Given the description of an element on the screen output the (x, y) to click on. 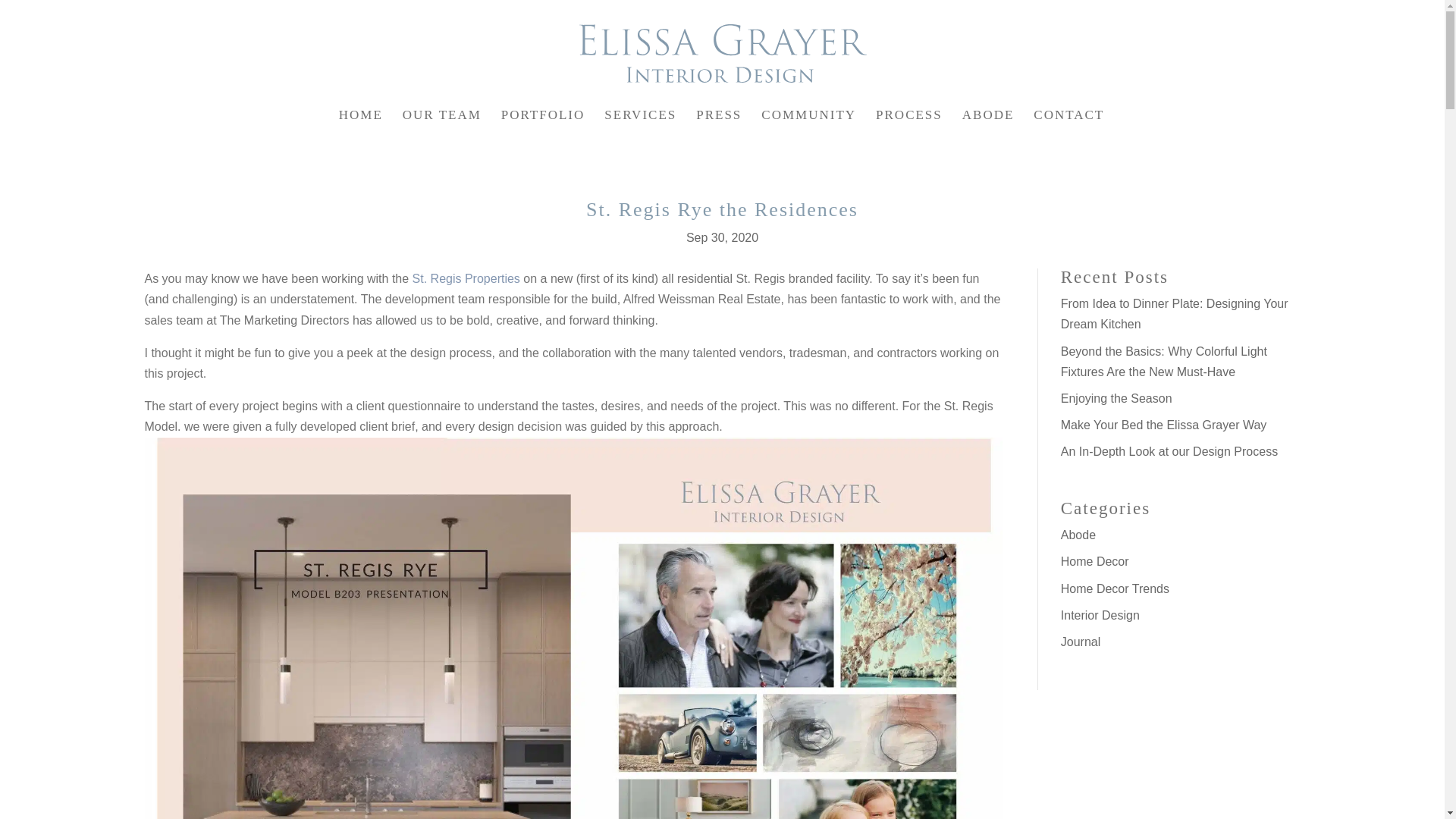
COMMUNITY (808, 124)
ABODE (988, 124)
St. Regis Properties (465, 278)
Abode (1078, 534)
Enjoying the Season (1116, 398)
PROCESS (909, 124)
Journal (1080, 641)
Home Decor (1095, 561)
From Idea to Dinner Plate: Designing Your Dream Kitchen (1174, 313)
PORTFOLIO (542, 124)
An In-Depth Look at our Design Process (1169, 451)
OUR TEAM (442, 124)
Home Decor Trends (1115, 588)
HOME (360, 124)
Make Your Bed the Elissa Grayer Way (1163, 424)
